Given the description of an element on the screen output the (x, y) to click on. 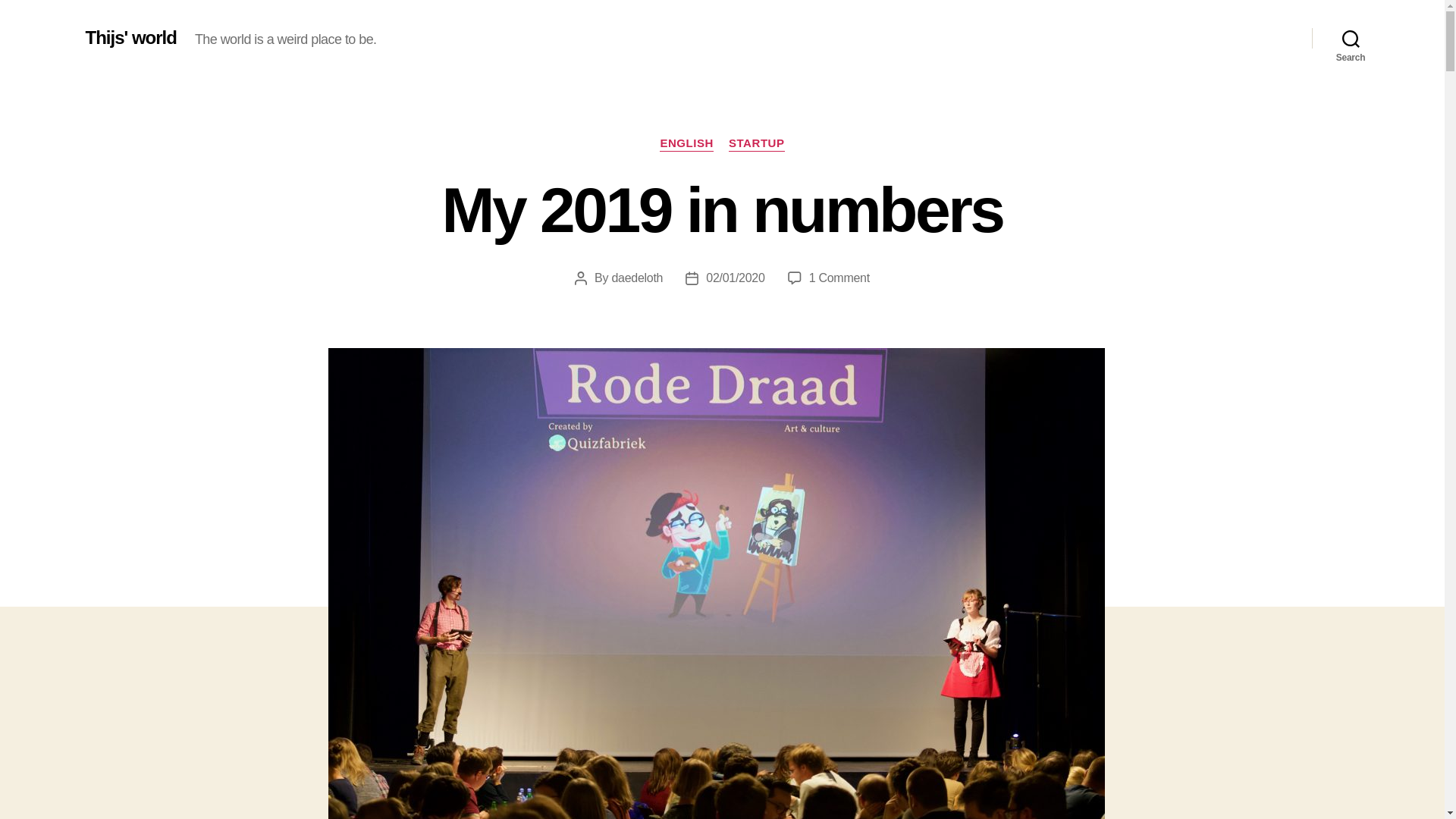
STARTUP (756, 143)
Search (1350, 37)
daedeloth (636, 277)
Thijs' world (130, 37)
ENGLISH (686, 143)
